Given the description of an element on the screen output the (x, y) to click on. 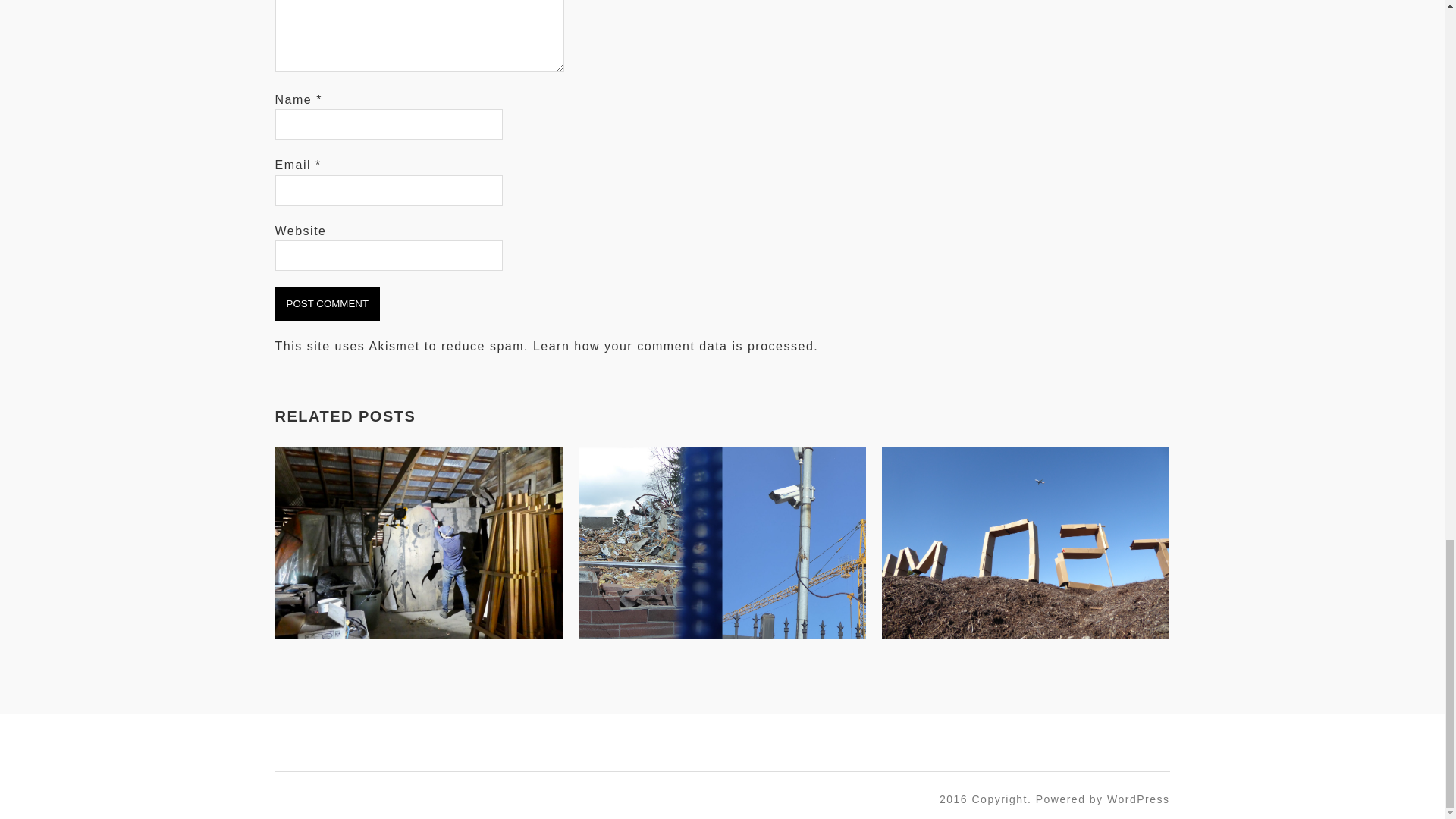
Post Comment (327, 303)
